Given the description of an element on the screen output the (x, y) to click on. 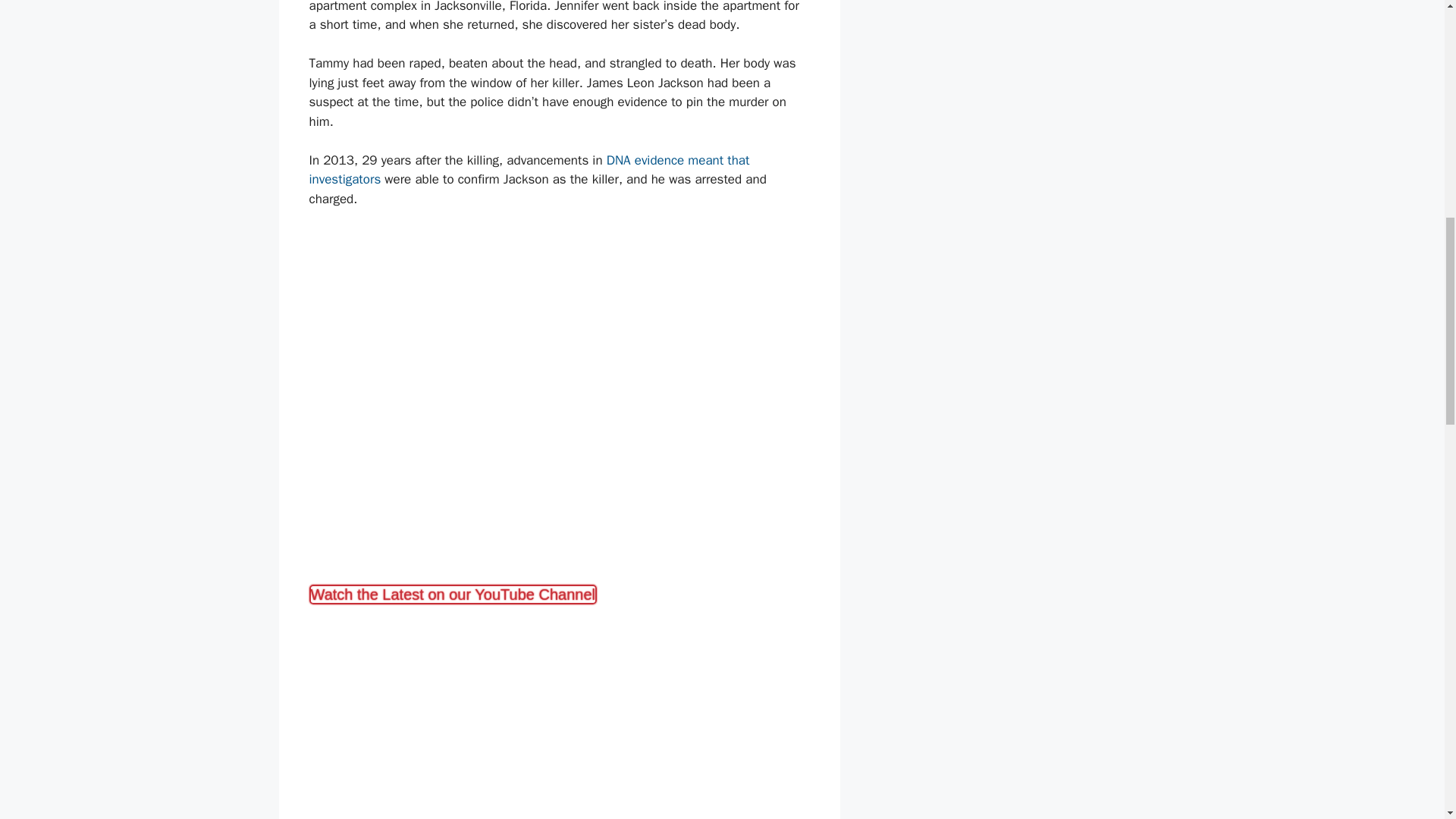
YouTube video player (559, 712)
DNA evidence meant that investigators (528, 170)
